Given the description of an element on the screen output the (x, y) to click on. 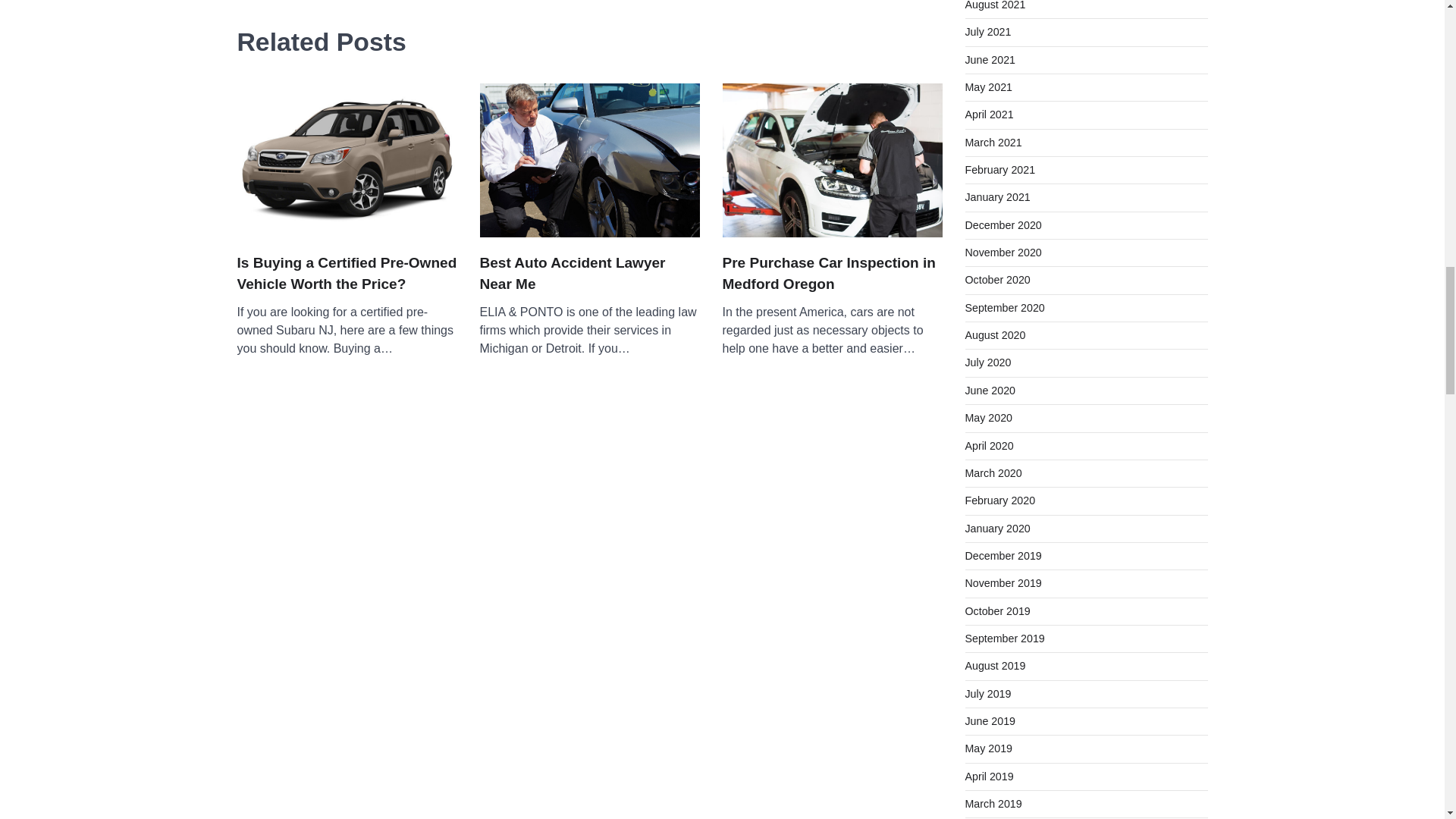
Is Buying a Certified Pre-Owned Vehicle Worth the Price? (346, 273)
Best Auto Accident Lawyer Near Me  (588, 273)
Pre Purchase Car Inspection in Medford Oregon (832, 273)
